Given the description of an element on the screen output the (x, y) to click on. 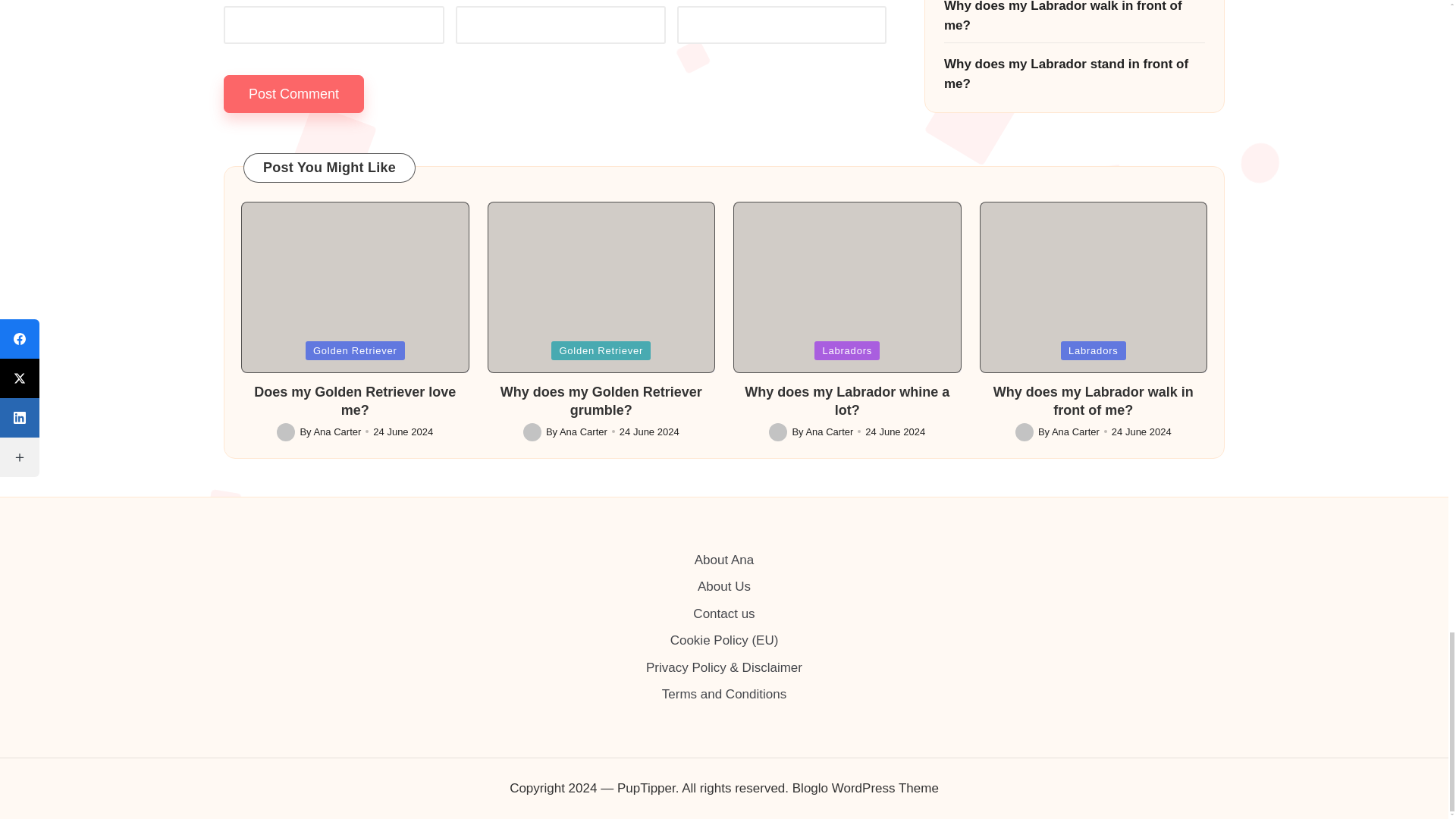
Post Comment (294, 94)
Post Comment (294, 94)
View all posts by Ana Carter (829, 431)
View all posts by Ana Carter (1075, 431)
View all posts by Ana Carter (337, 431)
View all posts by Ana Carter (583, 431)
